Given the description of an element on the screen output the (x, y) to click on. 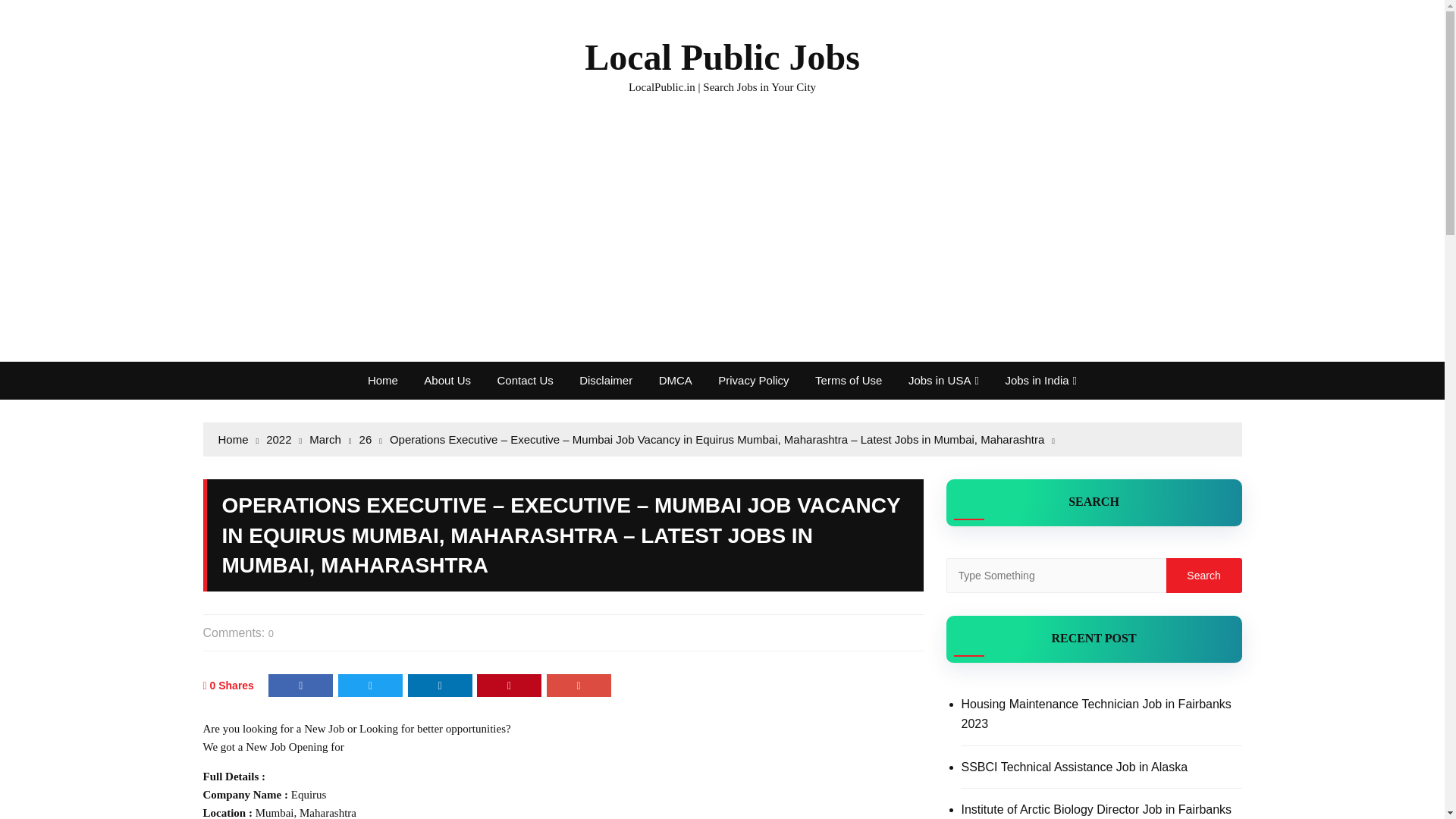
About Us (446, 380)
Jobs in India (1039, 380)
Search (1203, 574)
Jobs in USA (943, 380)
DMCA (675, 380)
Privacy Policy (752, 380)
Disclaimer (605, 380)
Terms of Use (848, 380)
Home (382, 380)
